Given the description of an element on the screen output the (x, y) to click on. 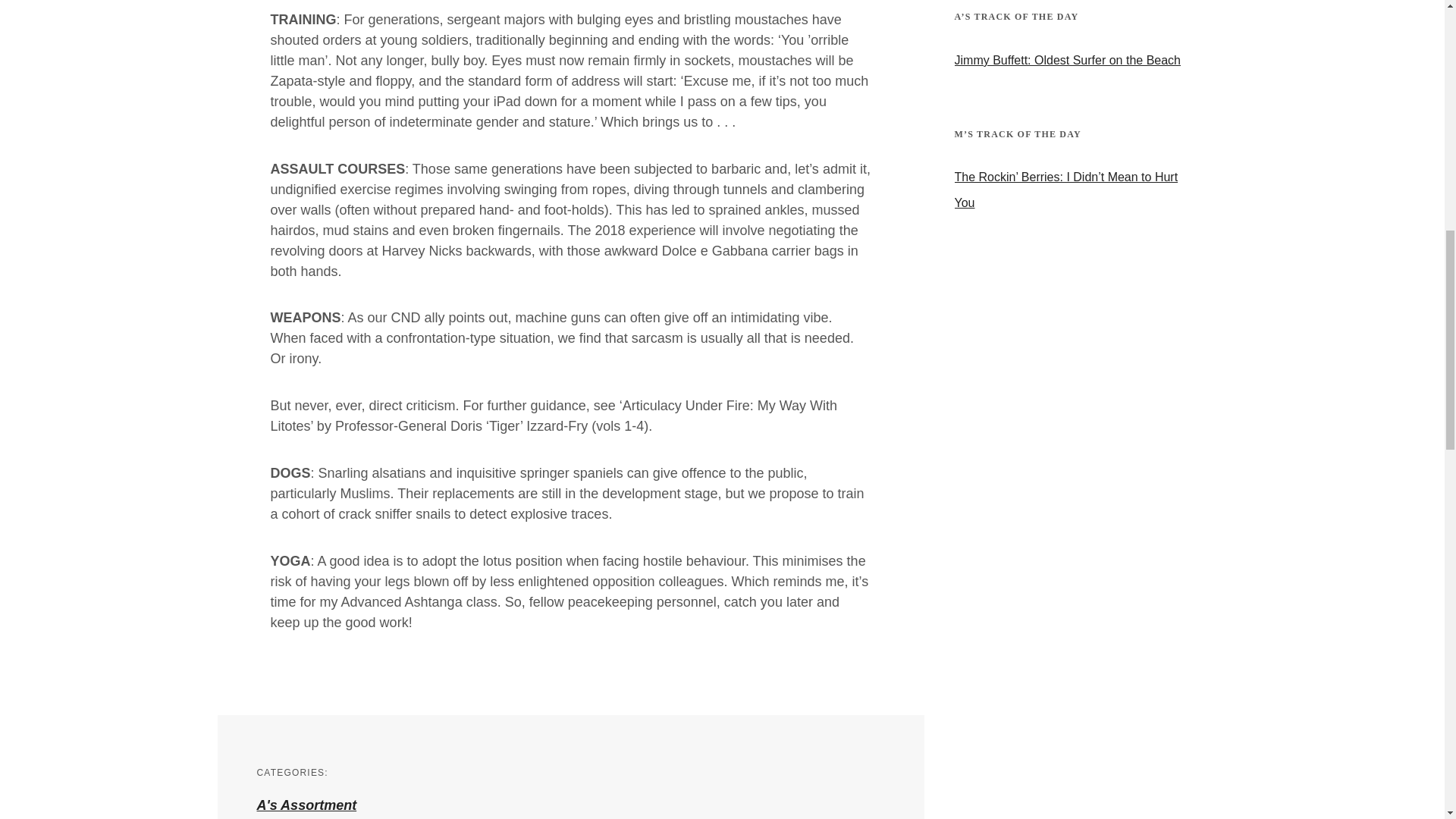
Jimmy Buffett: Oldest Surfer on the Beach (1074, 60)
A's Assortment (306, 805)
